Given the description of an element on the screen output the (x, y) to click on. 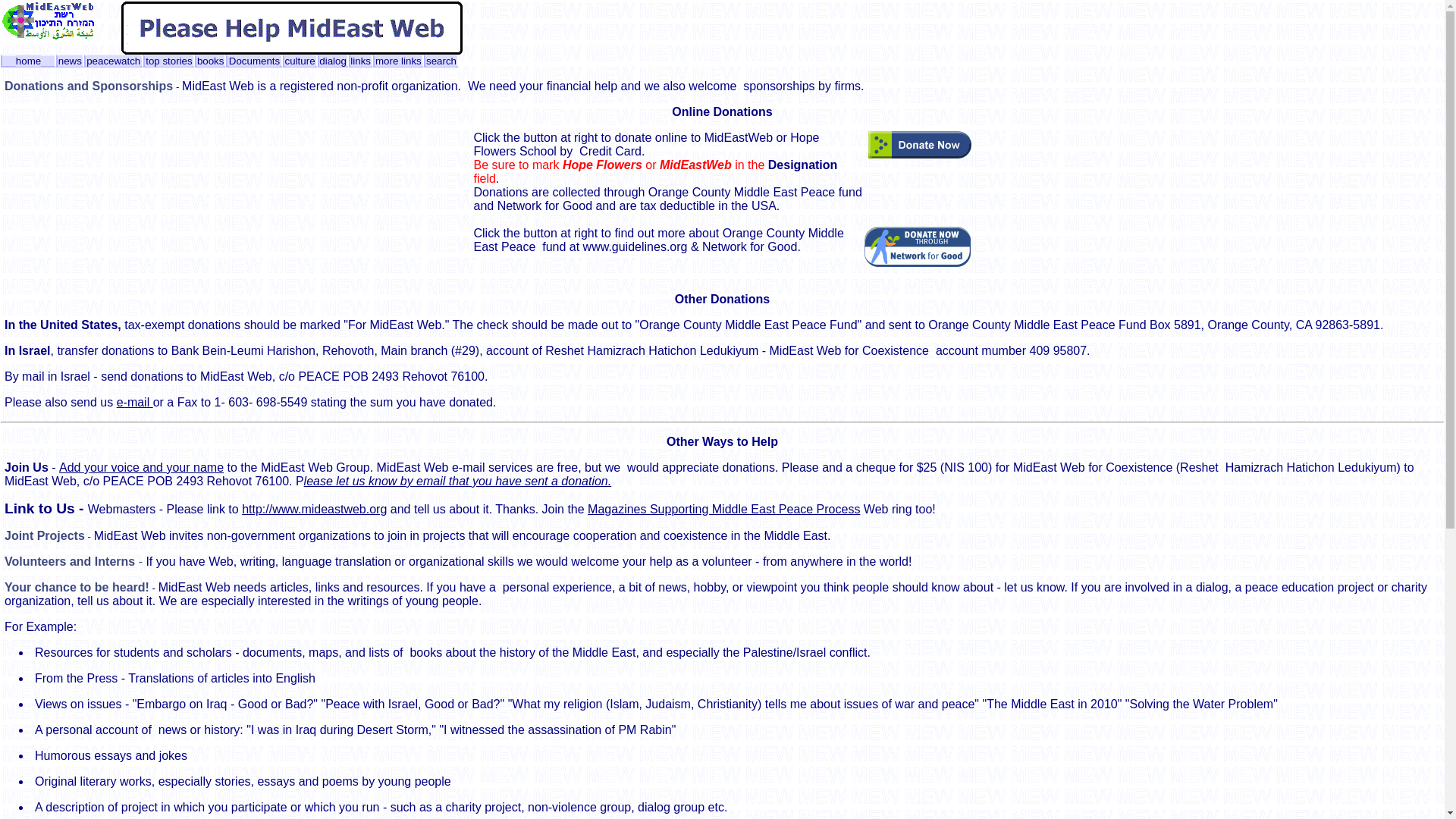
news (69, 60)
books (210, 60)
more links (398, 60)
top stories (168, 60)
home (28, 60)
culture (300, 60)
search (441, 60)
Magazines Supporting Middle East Peace Process (724, 508)
Add your voice and your name (141, 467)
e-mail (134, 401)
Documents (253, 60)
links (360, 60)
Middle East Historical Documents (253, 60)
lease let us know by email that you have sent a donation. (457, 481)
peacewatch (112, 60)
